Given the description of an element on the screen output the (x, y) to click on. 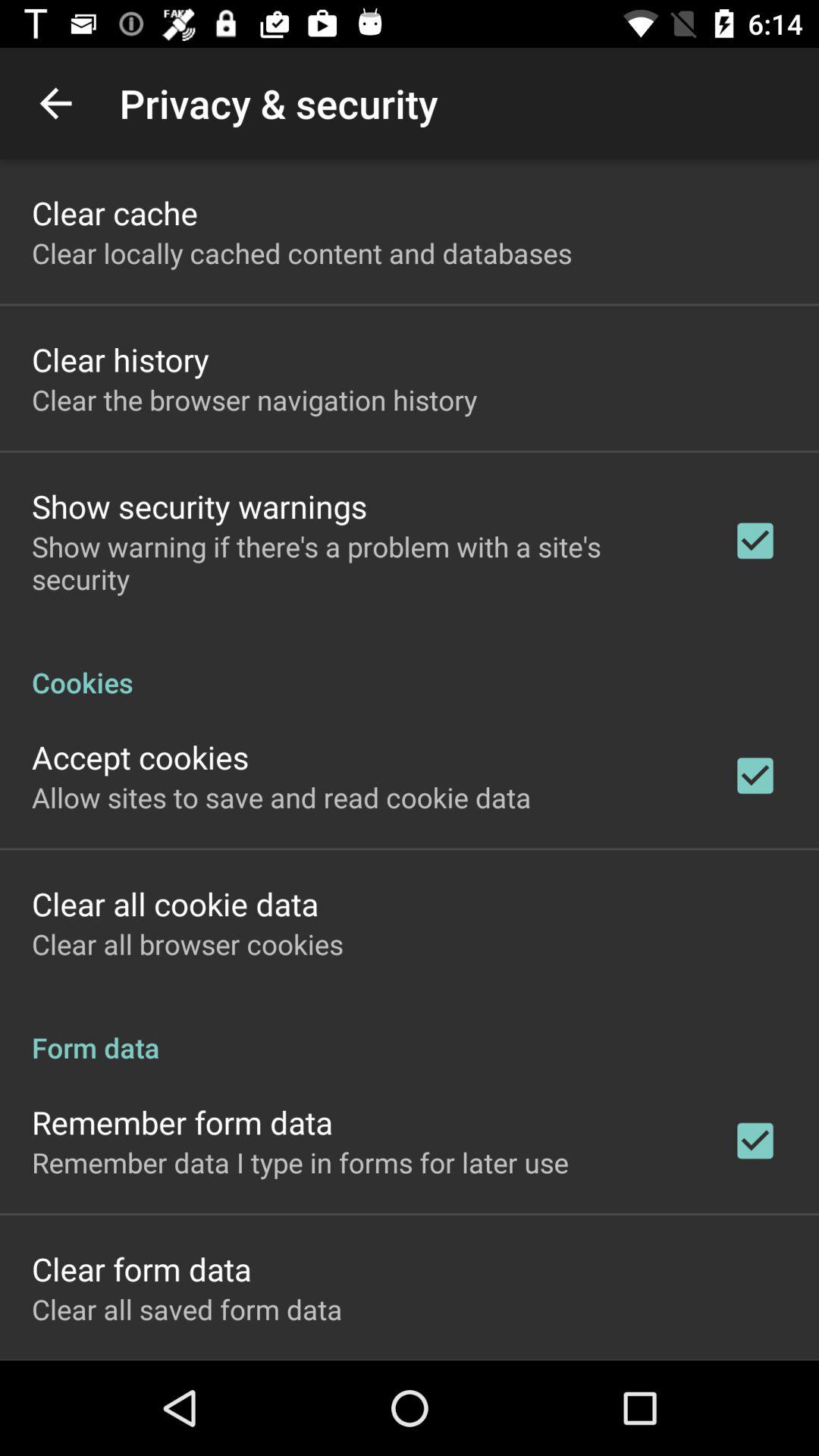
press the icon above clear all cookie app (281, 797)
